Given the description of an element on the screen output the (x, y) to click on. 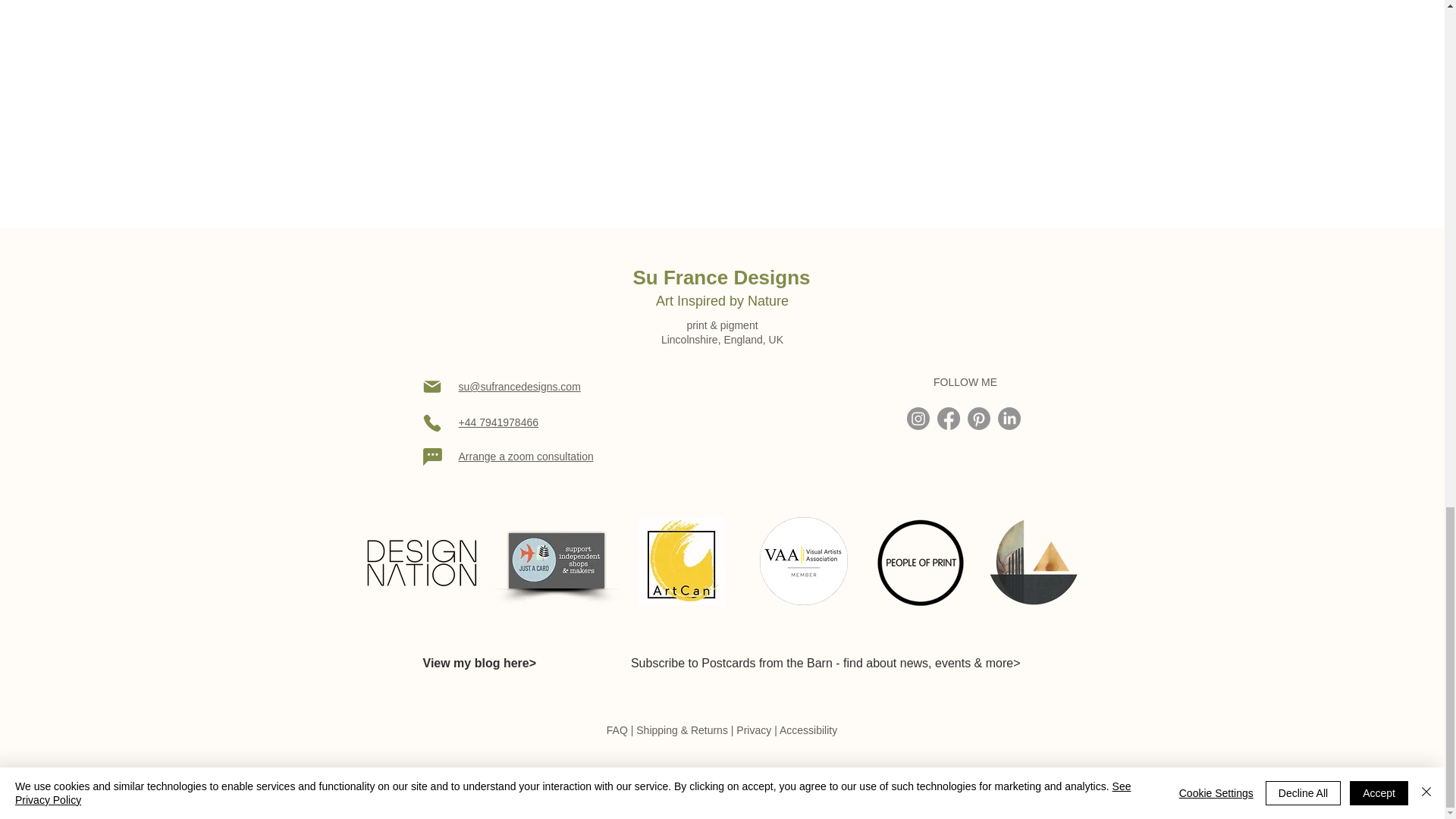
Arrange a zoom consultation (525, 456)
Su France Designs (720, 277)
FAQ (617, 729)
